Given the description of an element on the screen output the (x, y) to click on. 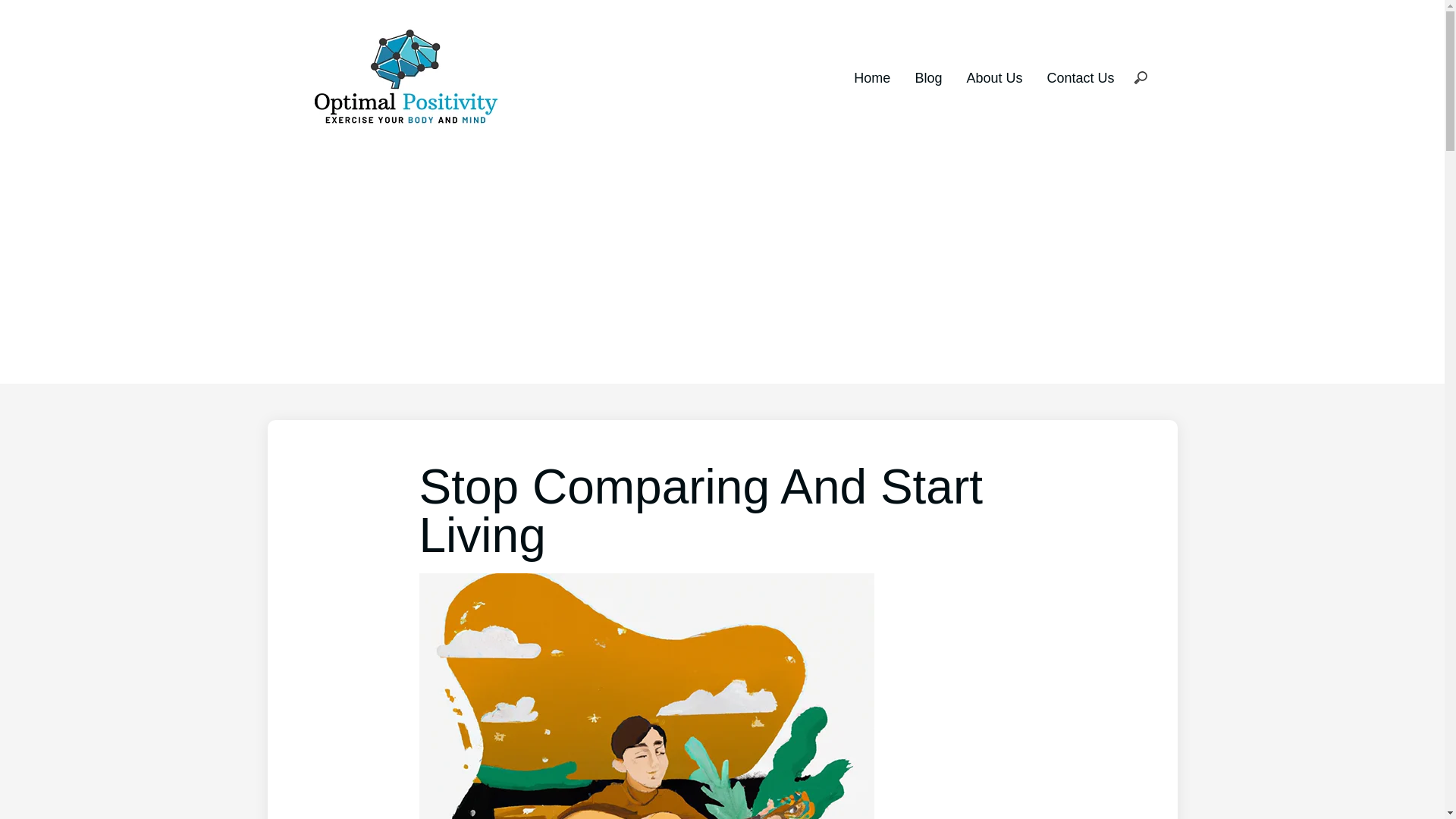
About Us (994, 77)
Search for: (1139, 78)
Contact Us (1079, 77)
Home (871, 77)
Blog (928, 77)
